Given the description of an element on the screen output the (x, y) to click on. 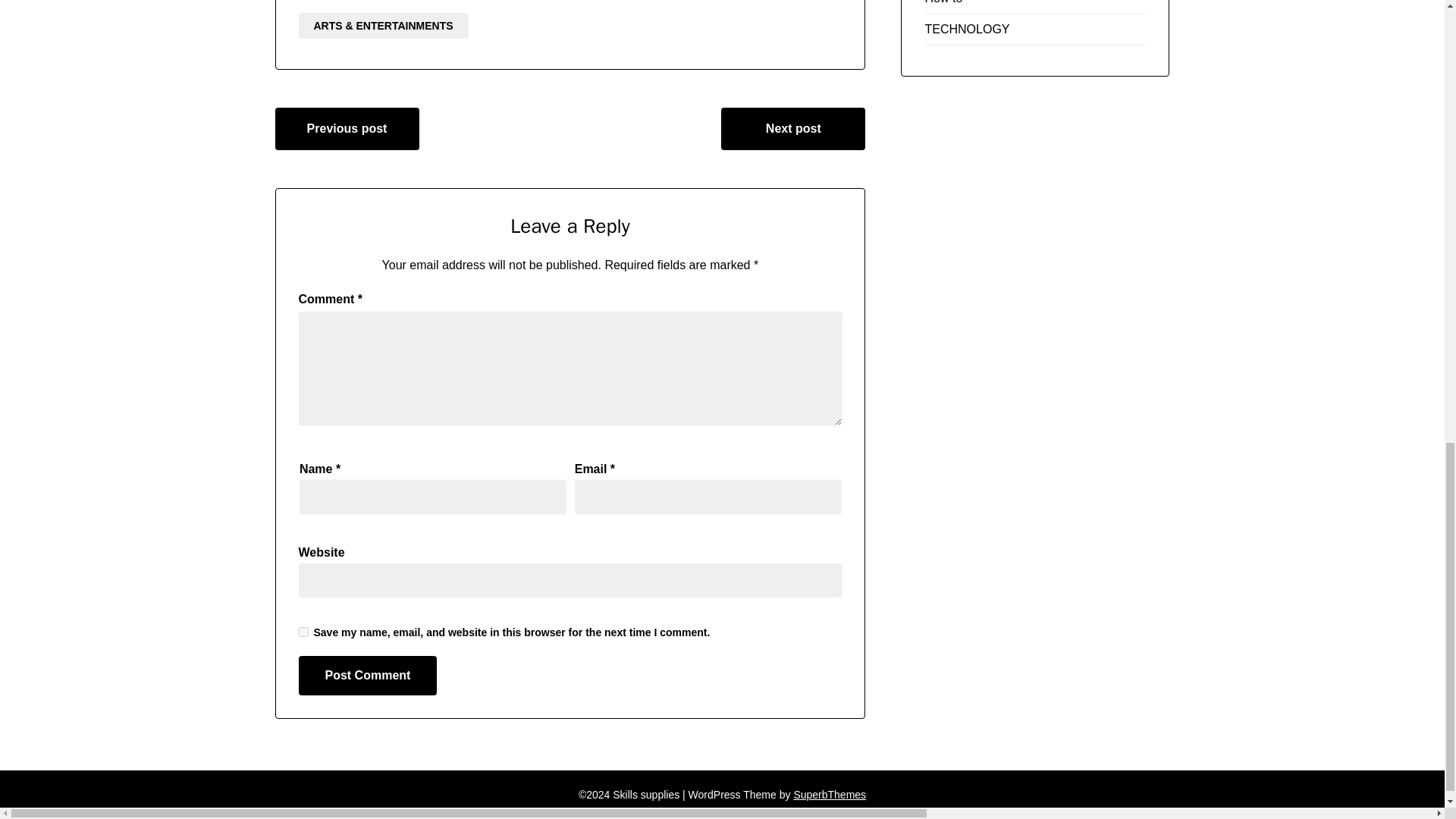
yes (303, 632)
Post Comment (368, 675)
Previous post (347, 128)
Next post (792, 128)
Post Comment (368, 675)
